Given the description of an element on the screen output the (x, y) to click on. 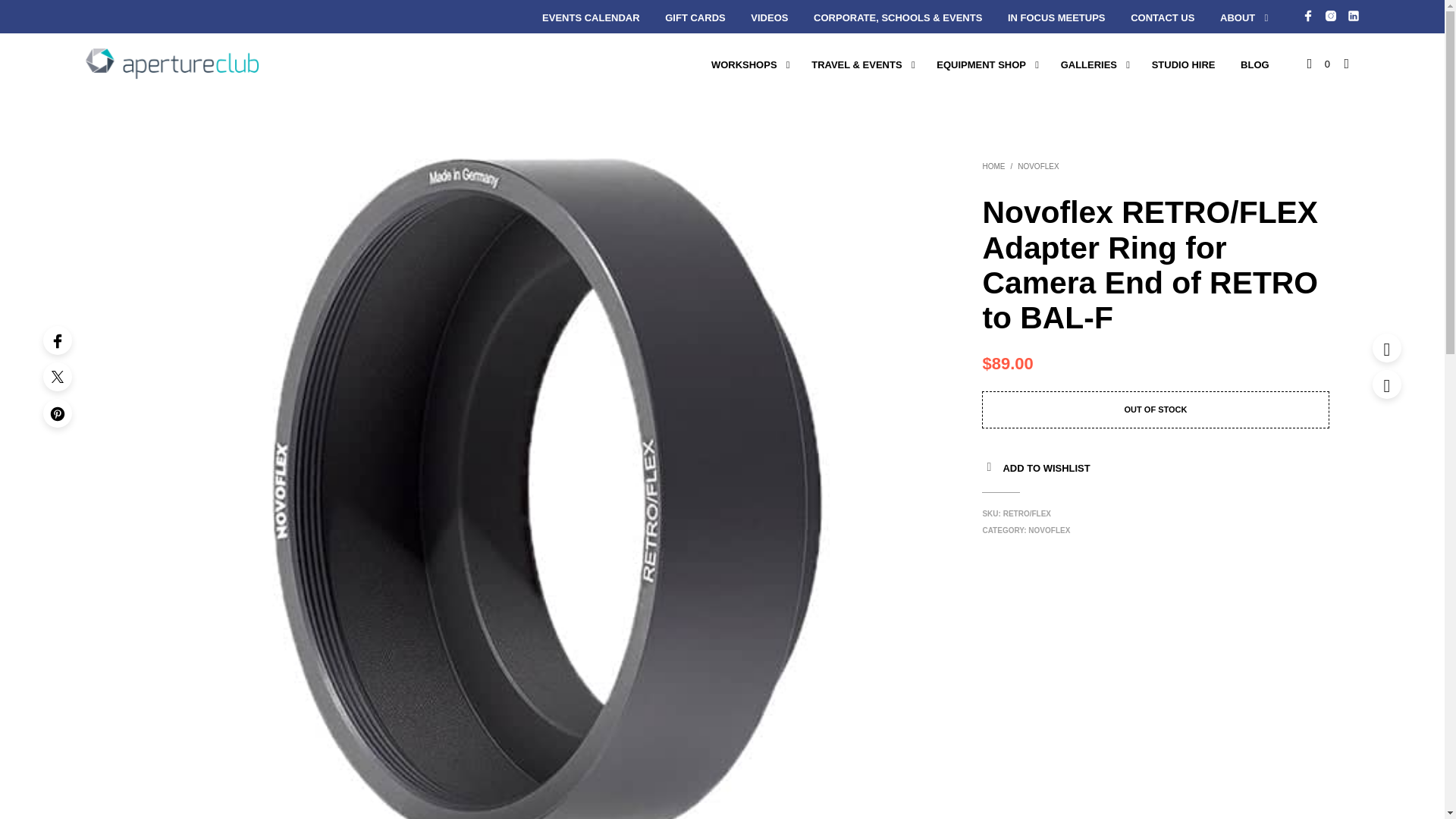
CONTACT US (1162, 17)
The Aperture Club Facebook (1307, 15)
GIFT CARDS (694, 17)
EVENTS CALENDAR (590, 17)
ABOUT (1237, 17)
The Aperture Club LinkedIn (1352, 15)
IN FOCUS MEETUPS (1055, 17)
VIDEOS (769, 17)
WORKSHOPS (744, 64)
The Aperture Club Instagram (1330, 15)
